Given the description of an element on the screen output the (x, y) to click on. 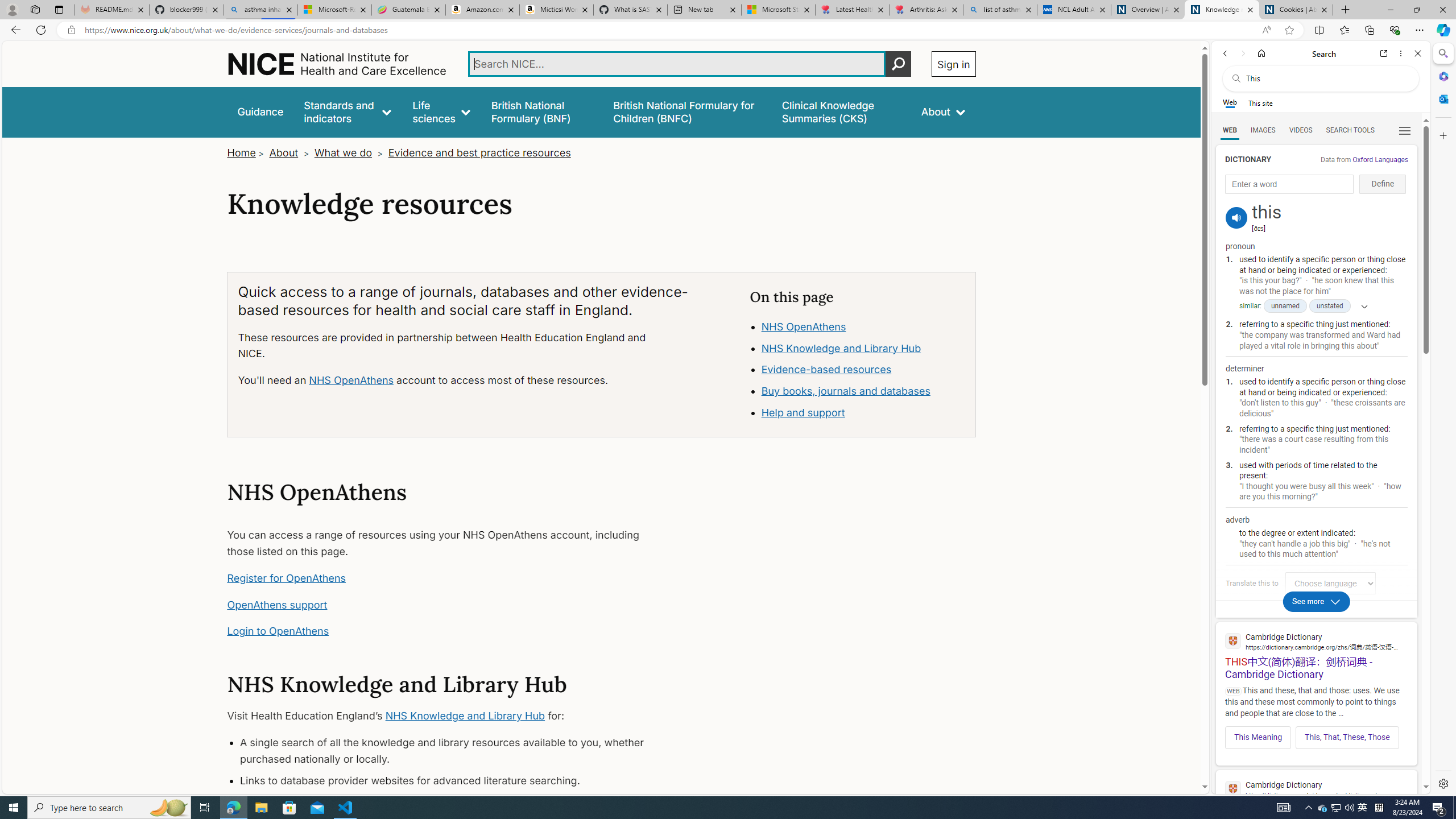
Show more (1360, 305)
